Given the description of an element on the screen output the (x, y) to click on. 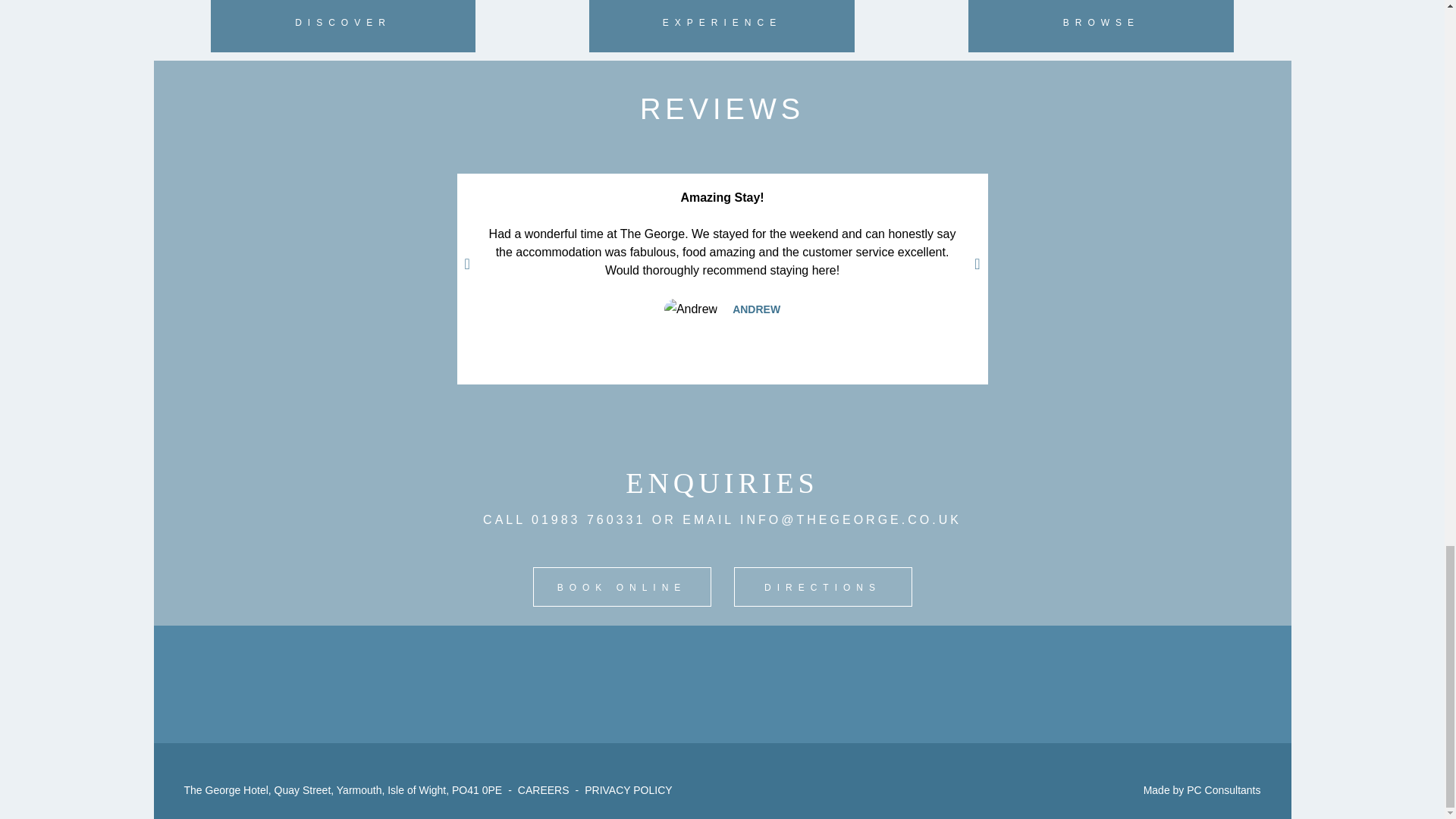
CAREERS (543, 789)
DIRECTIONS (822, 586)
EXPERIENCE (721, 22)
Made by PC Consultants (1201, 789)
DISCOVER (343, 22)
BOOK ONLINE (621, 586)
BROWSE (1101, 22)
PRIVACY POLICY (628, 789)
